Given the description of an element on the screen output the (x, y) to click on. 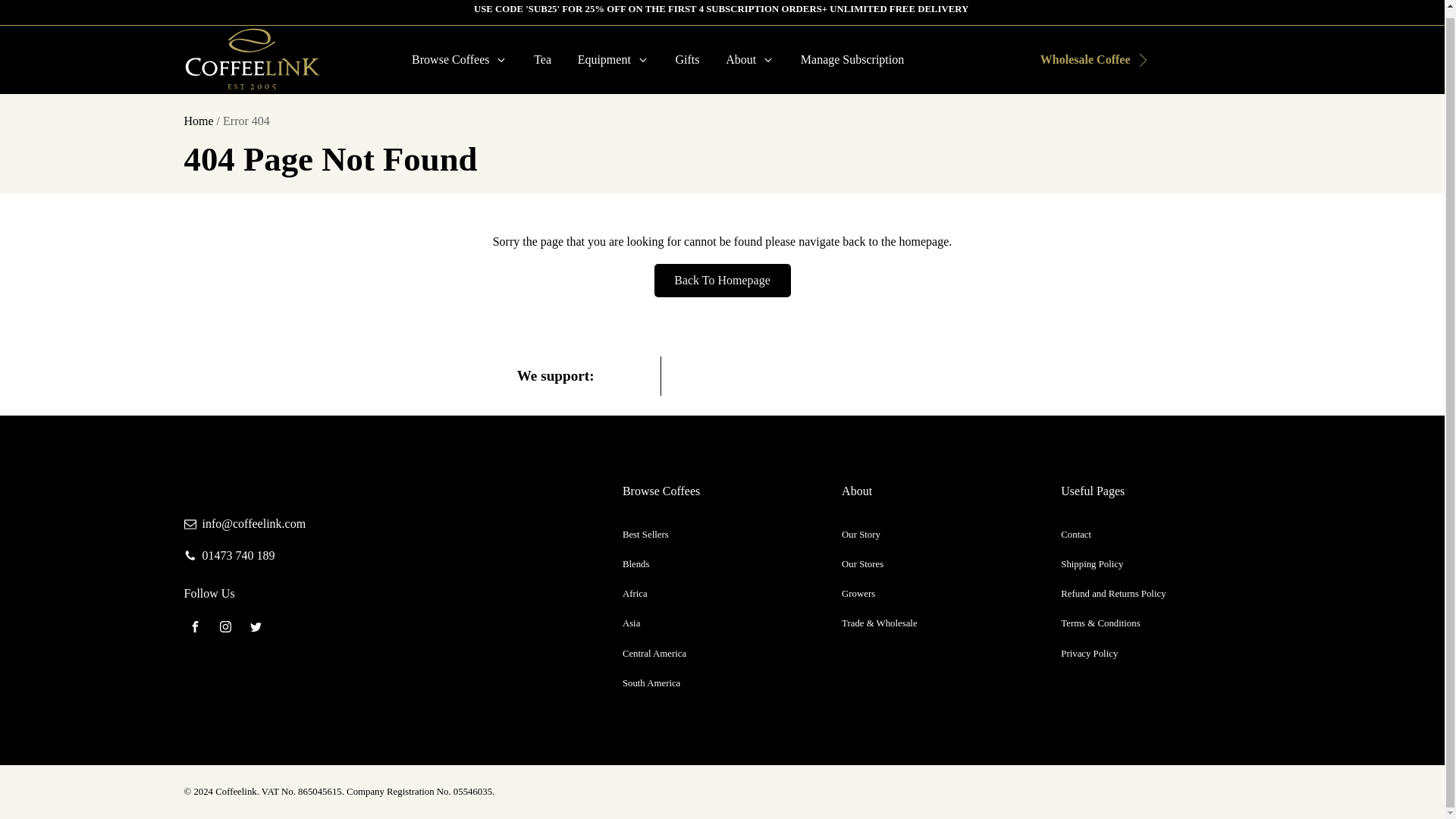
Browse Coffees (459, 59)
Gifts (687, 59)
About (750, 59)
Equipment (613, 59)
Tea (542, 59)
Manage Subscription (852, 59)
Wholesale Coffee (1082, 59)
